Given the description of an element on the screen output the (x, y) to click on. 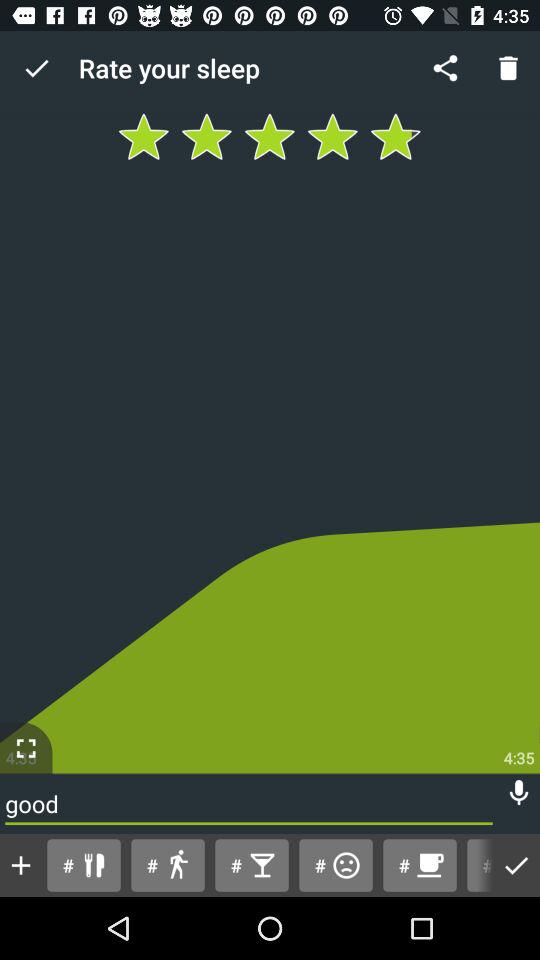
turn on button to the left of # (21, 865)
